Given the description of an element on the screen output the (x, y) to click on. 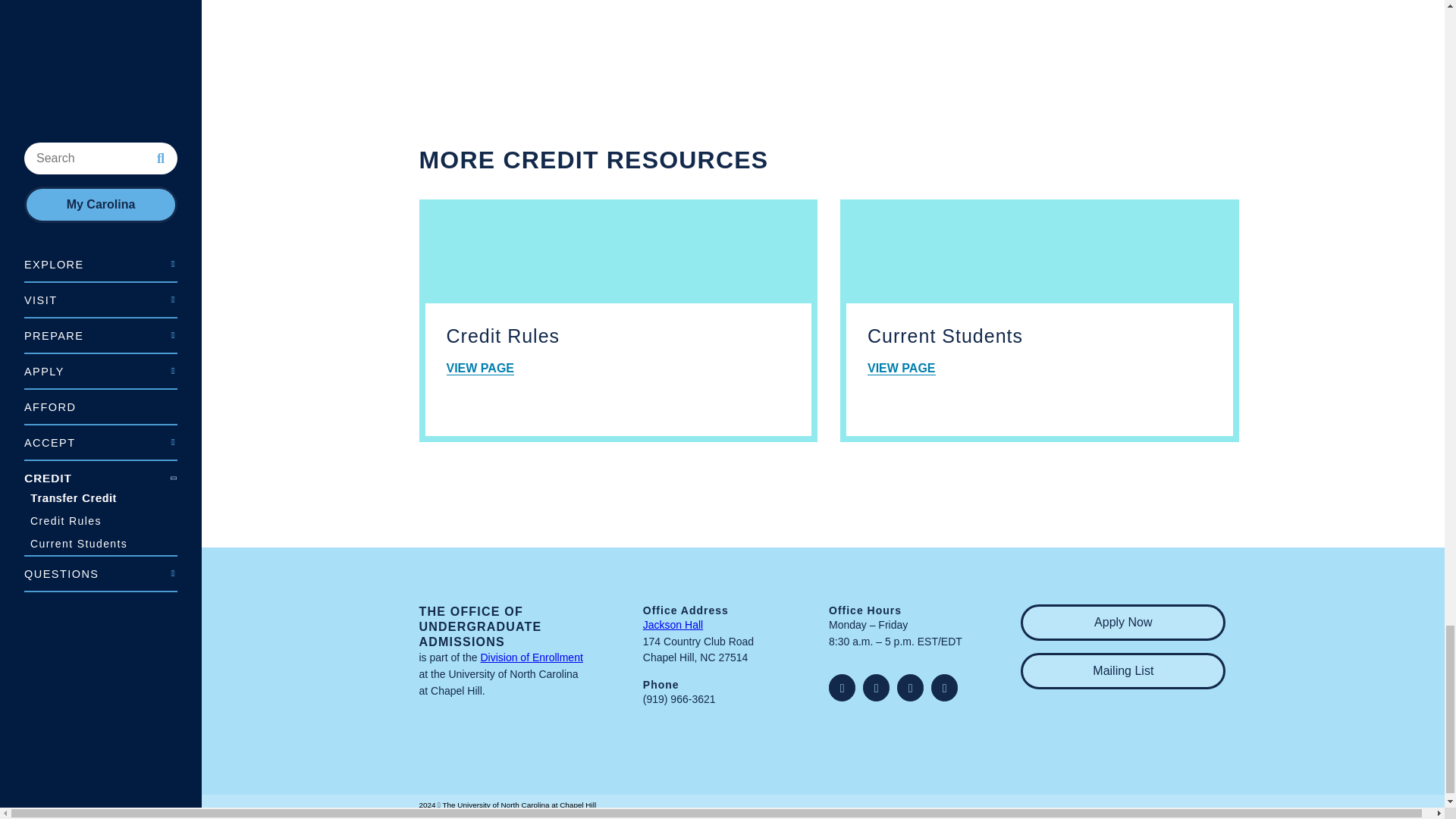
Admissions Instagram (876, 687)
Admissions Youtube (944, 687)
admissions twitter (842, 687)
Facebook (909, 687)
